Given the description of an element on the screen output the (x, y) to click on. 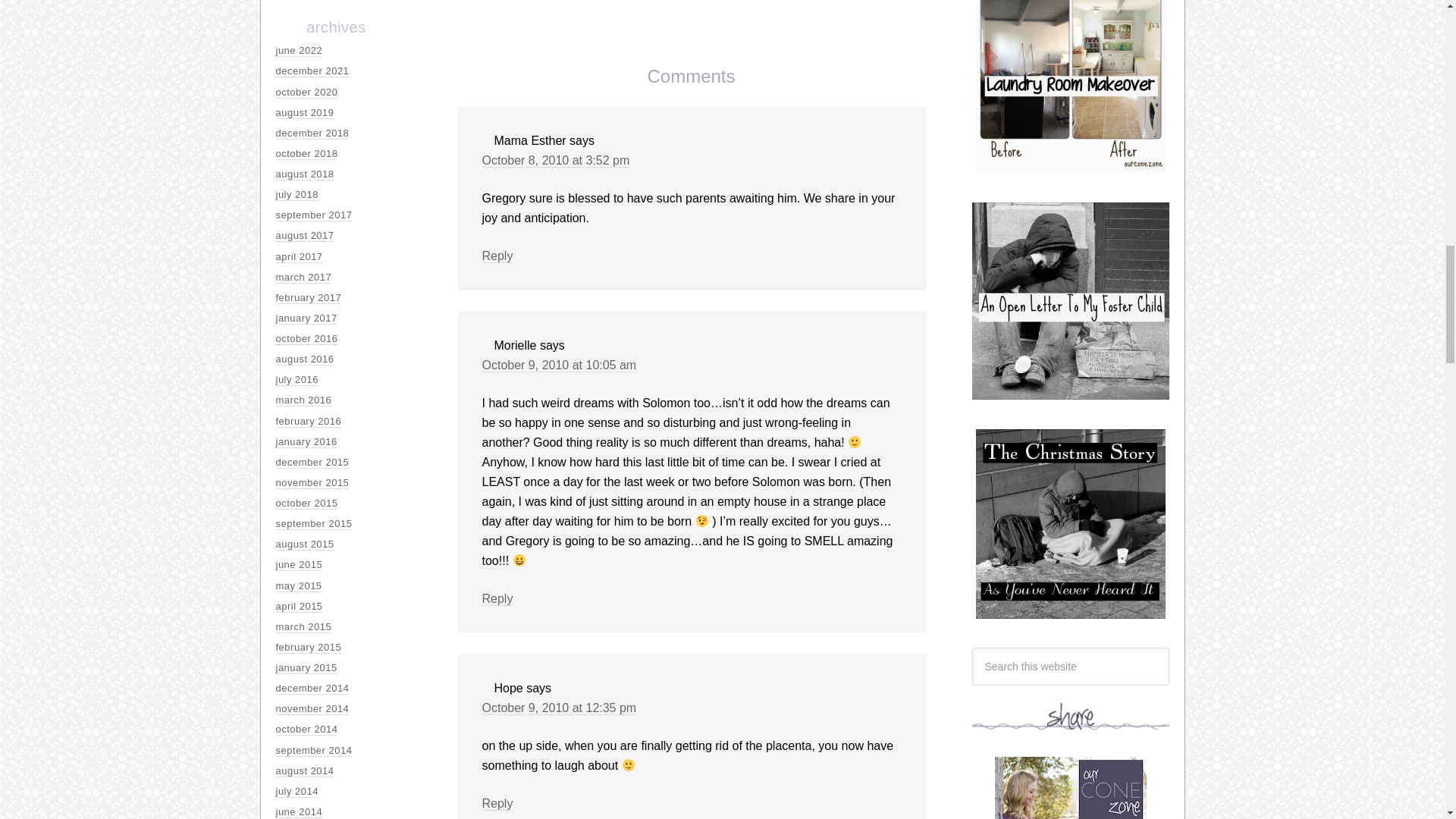
October 8, 2010 at 3:52 pm (555, 160)
Reply (497, 803)
October 9, 2010 at 12:35 pm (559, 707)
Reply (497, 599)
Our Cone Zone (1070, 787)
Reply (497, 255)
October 9, 2010 at 10:05 am (559, 365)
